Given the description of an element on the screen output the (x, y) to click on. 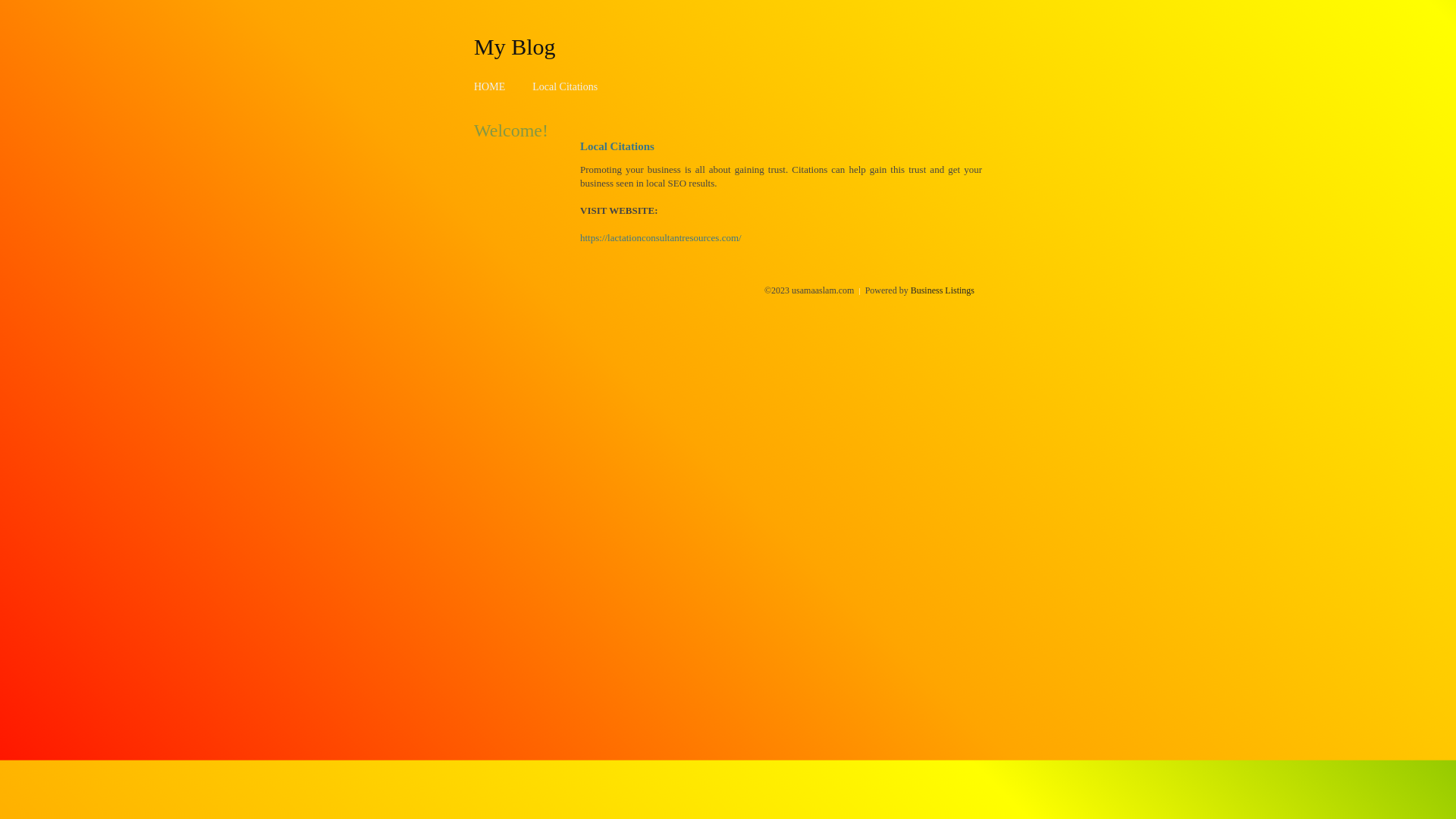
HOME Element type: text (489, 86)
My Blog Element type: text (514, 46)
https://lactationconsultantresources.com/ Element type: text (660, 237)
Local Citations Element type: text (564, 86)
Business Listings Element type: text (942, 290)
